Given the description of an element on the screen output the (x, y) to click on. 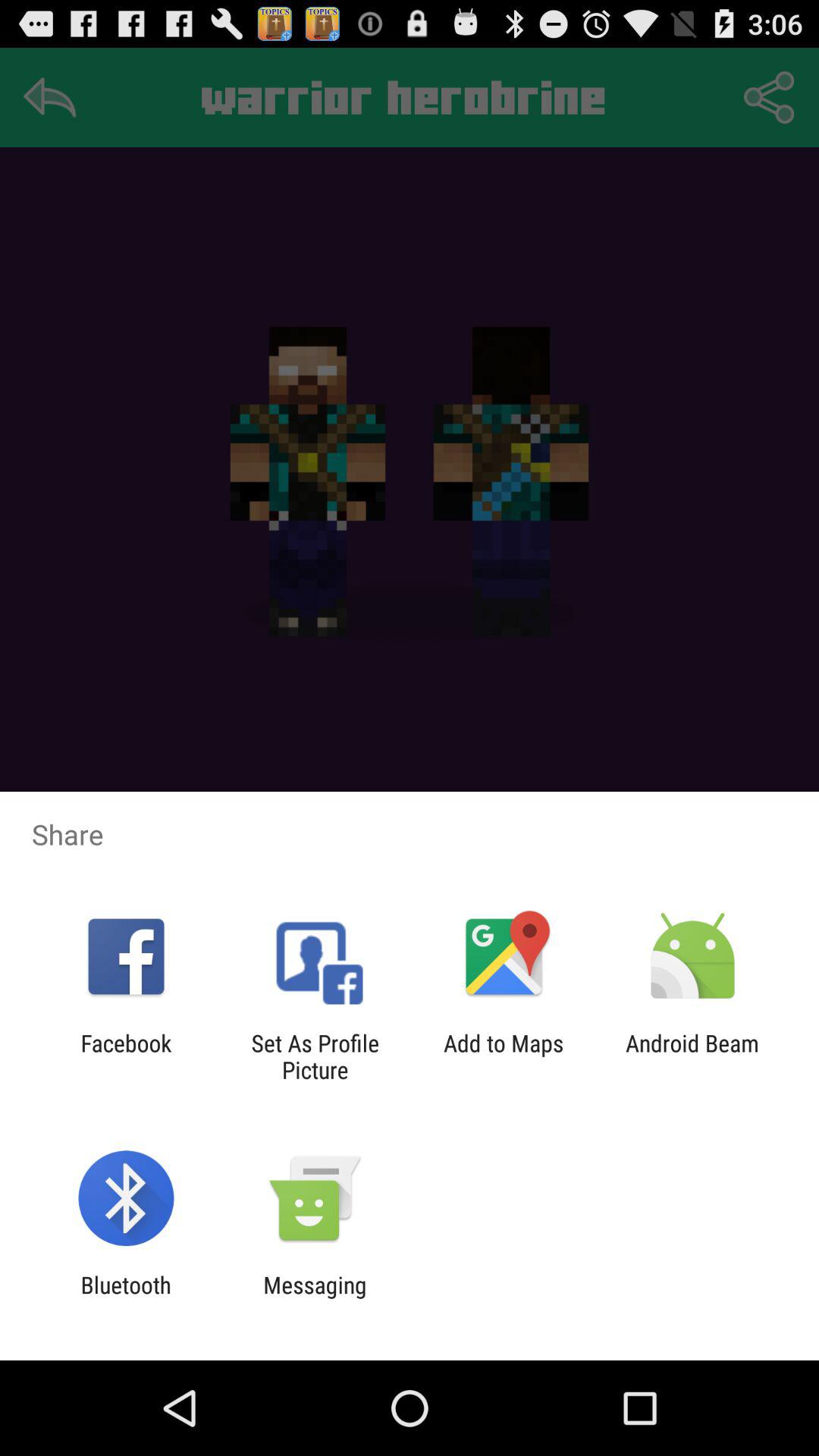
open app next to add to maps app (314, 1056)
